Given the description of an element on the screen output the (x, y) to click on. 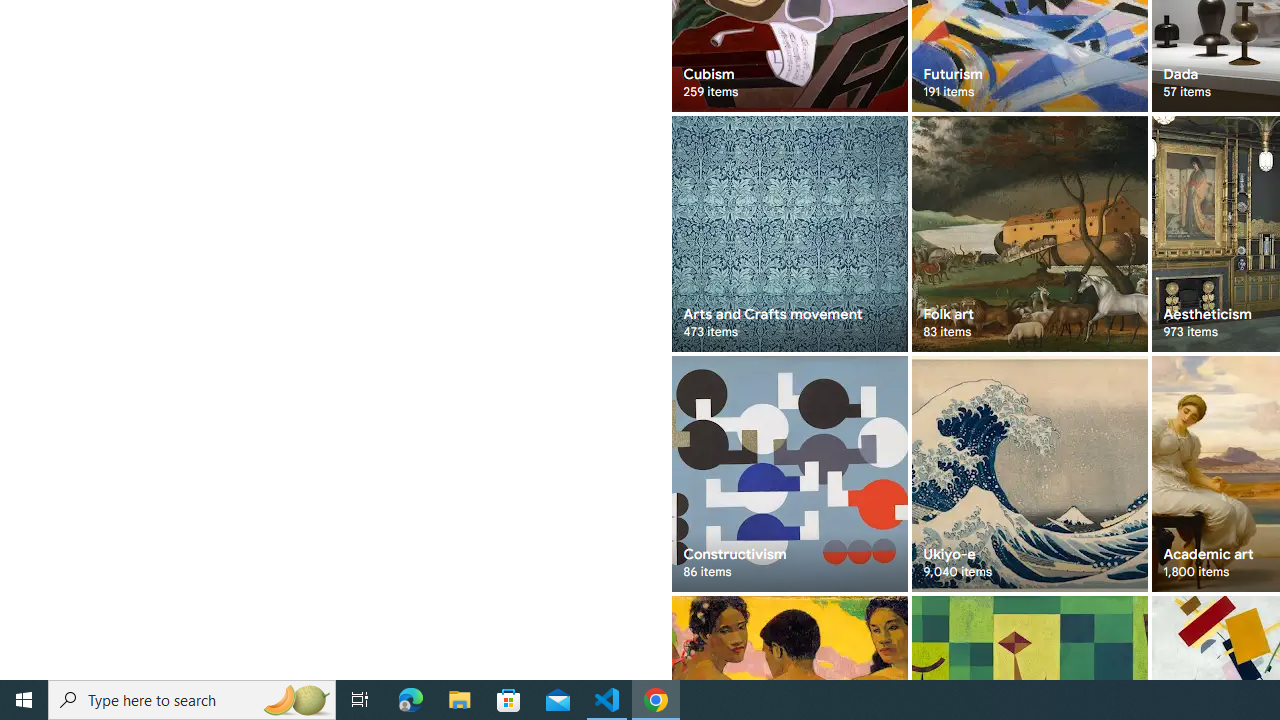
Folk art 83 items (1029, 233)
Constructivism 86 items (788, 473)
Arts and Crafts movement 473 items (788, 233)
Ukiyo-e 9,040 items (1029, 473)
